Given the description of an element on the screen output the (x, y) to click on. 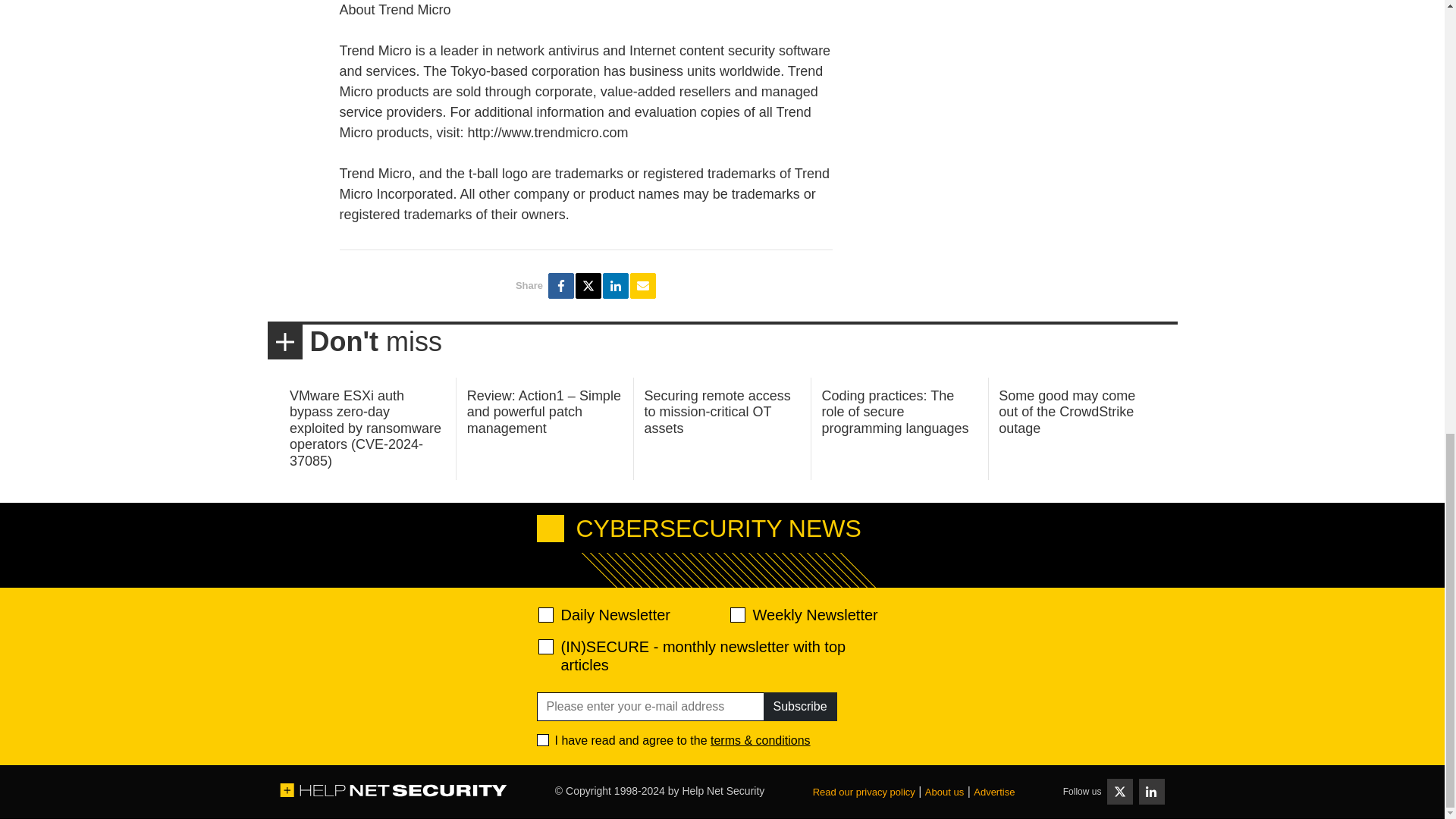
1 (542, 739)
28abe5d9ef (545, 646)
Securing remote access to mission-critical OT assets (717, 411)
Coding practices: The role of secure programming languages (894, 411)
d2d471aafa (736, 614)
520ac2f639 (545, 614)
Some good may come out of the CrowdStrike outage (1066, 411)
Subscribe (798, 706)
